Given the description of an element on the screen output the (x, y) to click on. 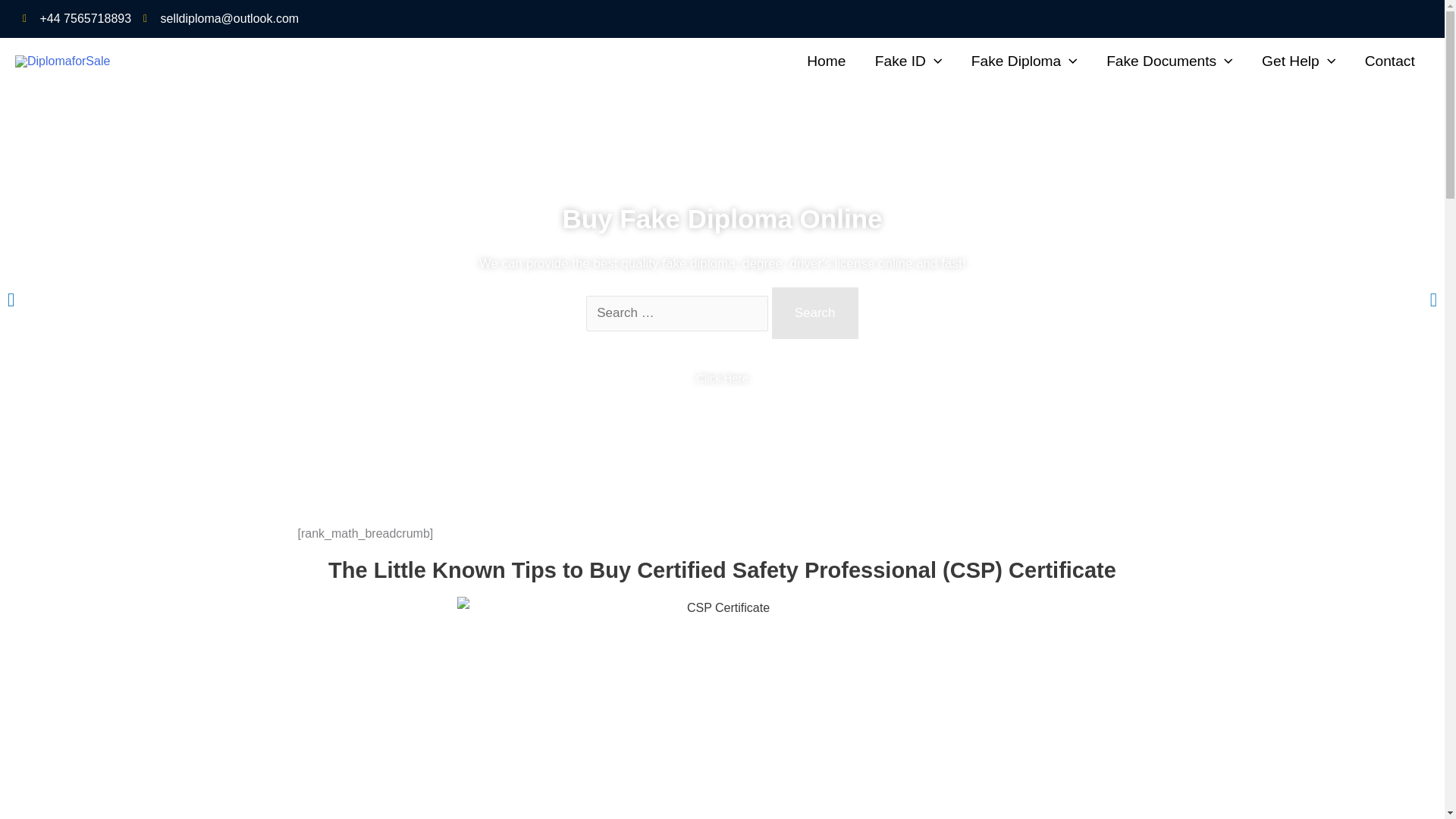
Get Help (1299, 60)
Fake Diploma (1024, 60)
Fake ID (908, 60)
Contact (1389, 60)
CSP Certificate (722, 708)
Home (826, 60)
Fake Documents (1169, 60)
Search (815, 313)
Search (815, 313)
